Given the description of an element on the screen output the (x, y) to click on. 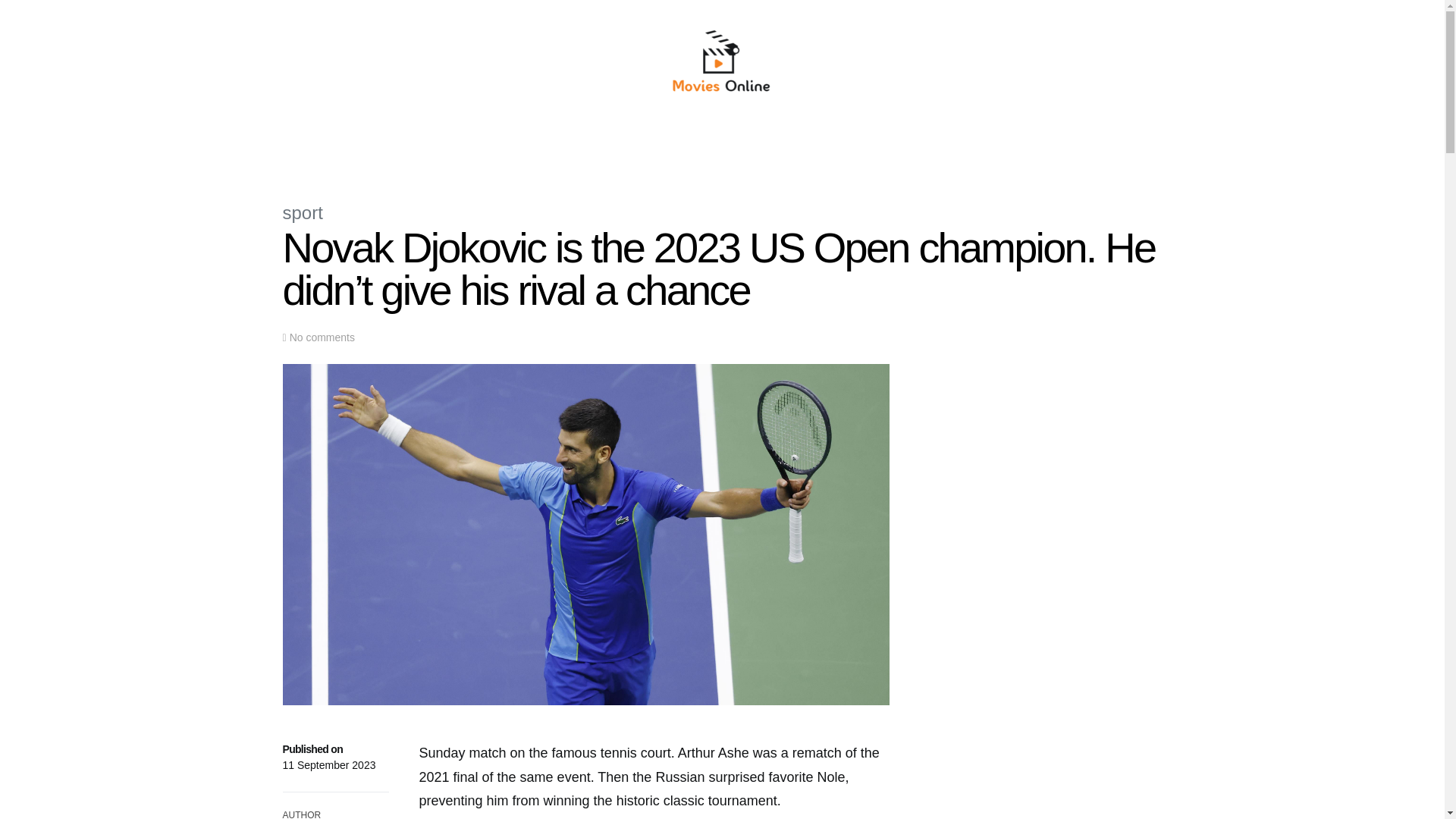
TOP NEWS (495, 145)
ECONOMY (610, 145)
sport (301, 212)
SPORT (762, 145)
SCIENCE (671, 145)
TECH (718, 145)
ENTERTAINMENT (834, 145)
WORLD (553, 145)
CONTACT FORM (926, 145)
HOME (444, 145)
No comments (322, 337)
